Given the description of an element on the screen output the (x, y) to click on. 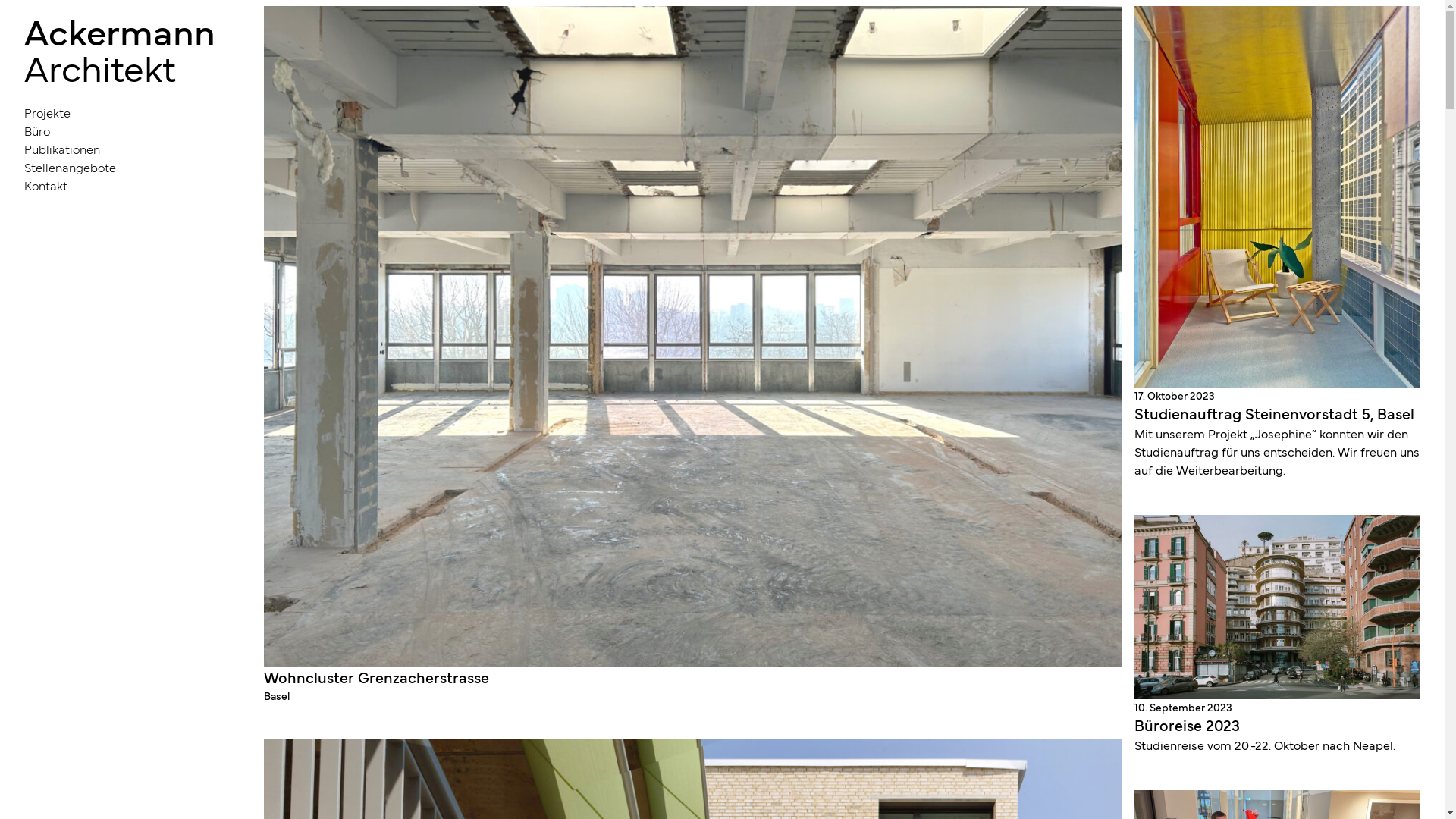
Stellenangebote Element type: text (119, 166)
Projekte Element type: text (119, 112)
Ackermann
Architekt Element type: text (119, 47)
Kontakt Element type: text (119, 184)
Publikationen Element type: text (119, 148)
